Given the description of an element on the screen output the (x, y) to click on. 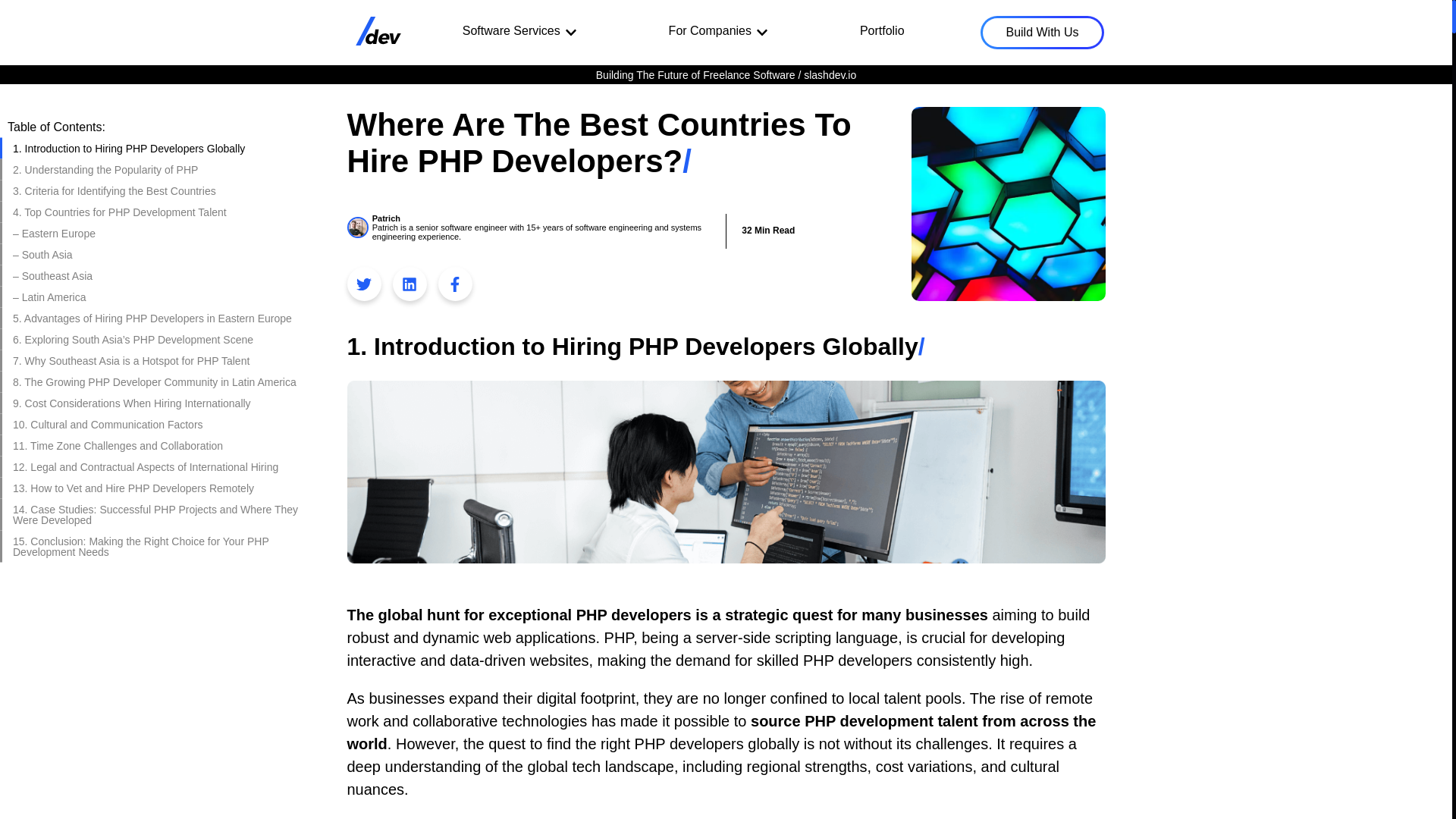
10. Cultural and Communication Factors (159, 424)
9. Cost Considerations When Hiring Internationally (159, 403)
7. Why Southeast Asia is a Hotspot for PHP Talent (159, 360)
11. Time Zone Challenges and Collaboration (159, 445)
3. Criteria for Identifying the Best Countries (159, 190)
2. Understanding the Popularity of PHP (159, 169)
5. Advantages of Hiring PHP Developers in Eastern Europe (159, 318)
13. How to Vet and Hire PHP Developers Remotely (159, 487)
12. Legal and Contractual Aspects of International Hiring (159, 466)
8. The Growing PHP Developer Community in Latin America (159, 382)
1. Introduction to Hiring PHP Developers Globally (159, 148)
4. Top Countries for PHP Development Talent (159, 211)
